Given the description of an element on the screen output the (x, y) to click on. 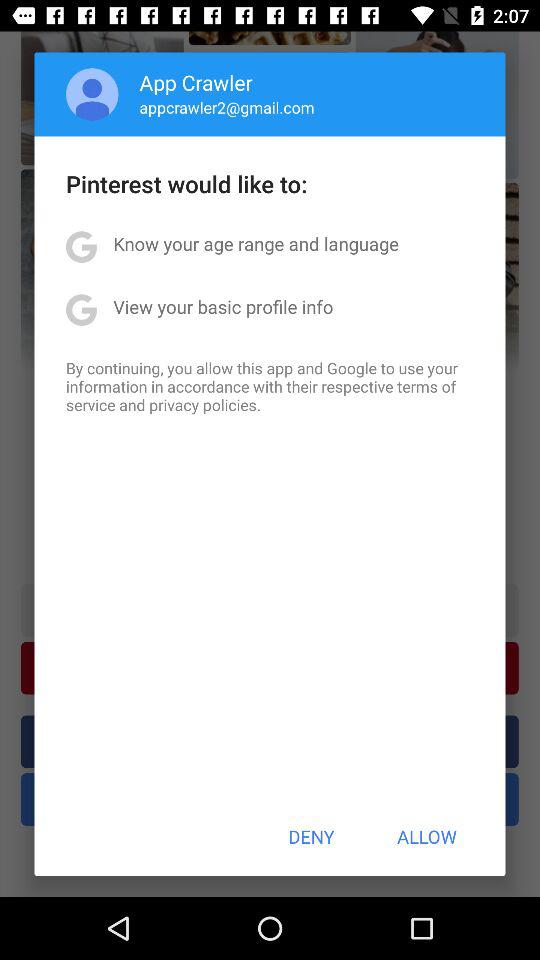
jump to the know your age (255, 243)
